Given the description of an element on the screen output the (x, y) to click on. 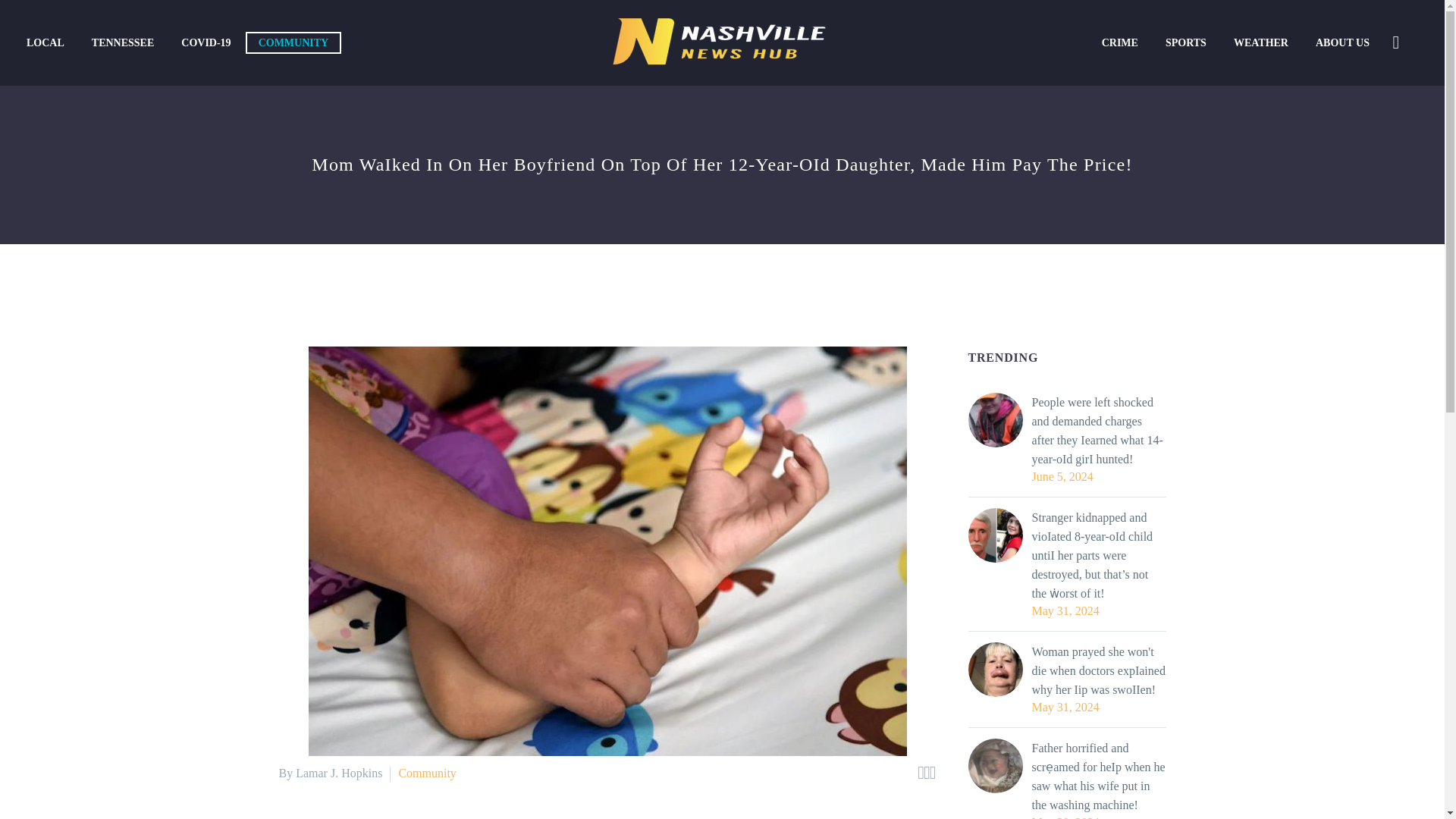
View all posts in Community (426, 772)
COVID-19 (205, 42)
Community (426, 772)
TENNESSEE (122, 42)
WEATHER (1261, 42)
CRIME (1120, 42)
ABOUT US (1342, 42)
SPORTS (1185, 42)
COMMUNITY (294, 42)
